Given the description of an element on the screen output the (x, y) to click on. 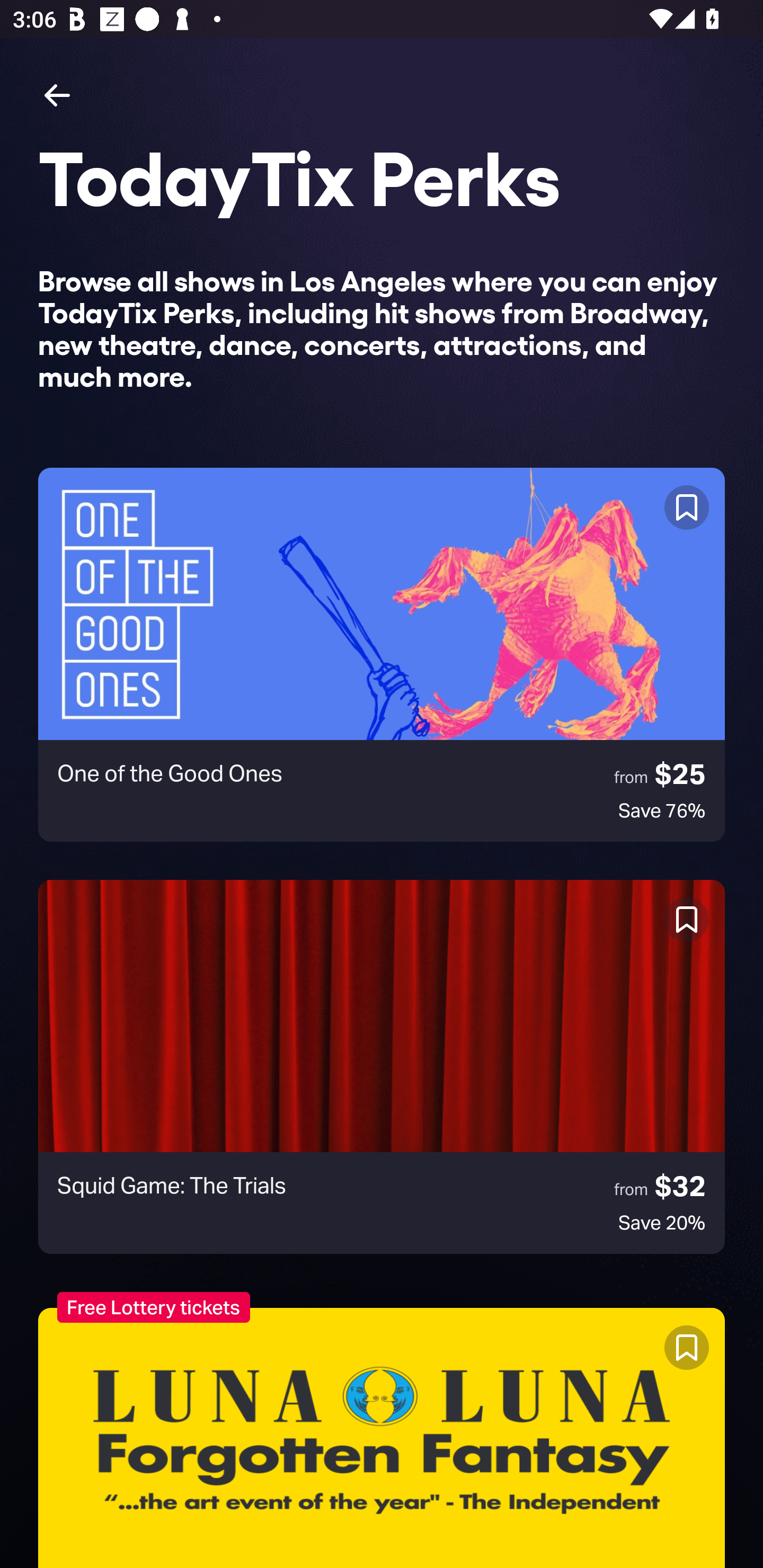
One of the Good Ones from $25 Save 76% (381, 654)
Squid Game: The Trials from $32 Save 20% (381, 1066)
